Given the description of an element on the screen output the (x, y) to click on. 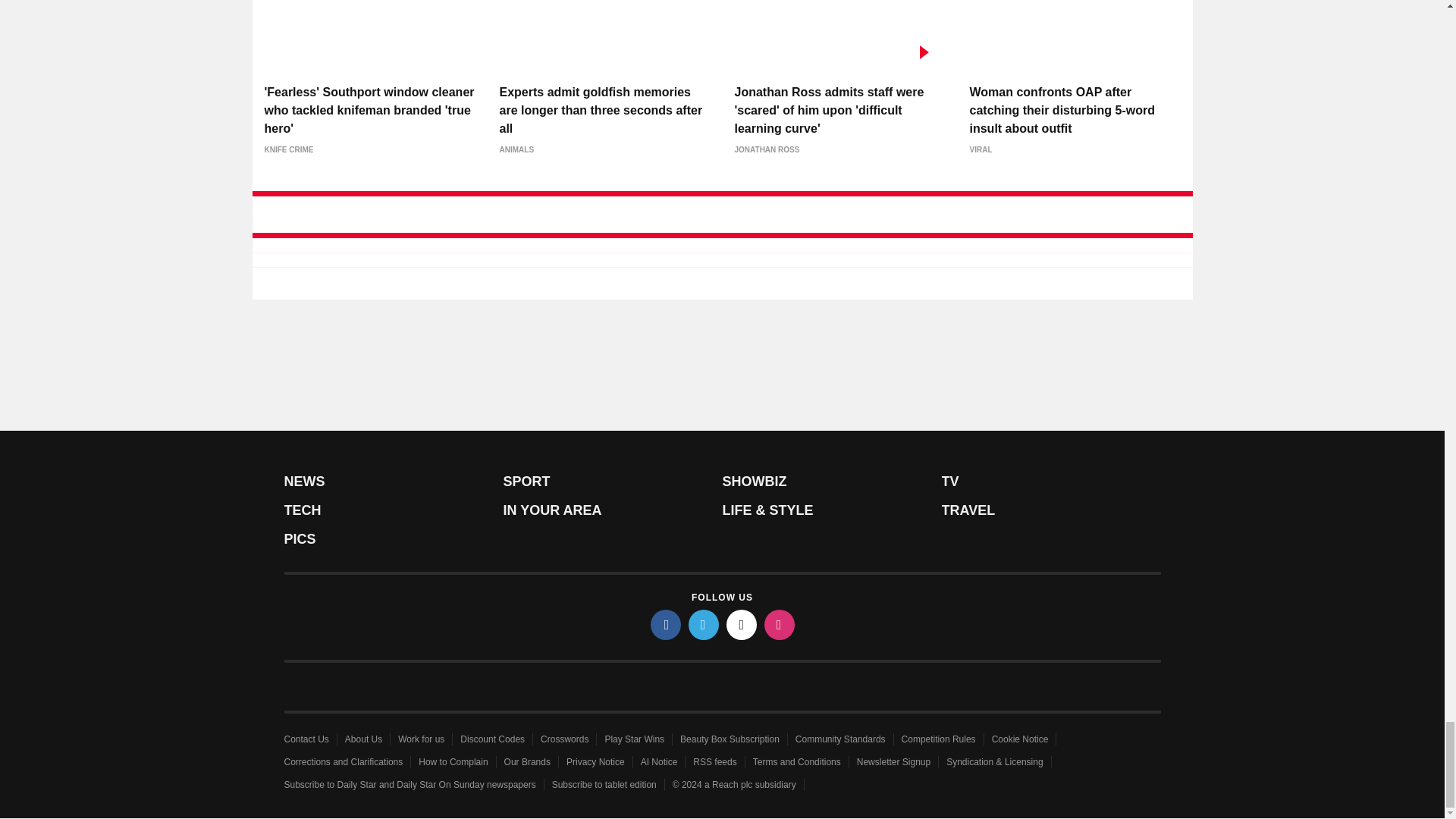
instagram (779, 624)
twitter (703, 624)
facebook (665, 624)
tiktok (741, 624)
